Given the description of an element on the screen output the (x, y) to click on. 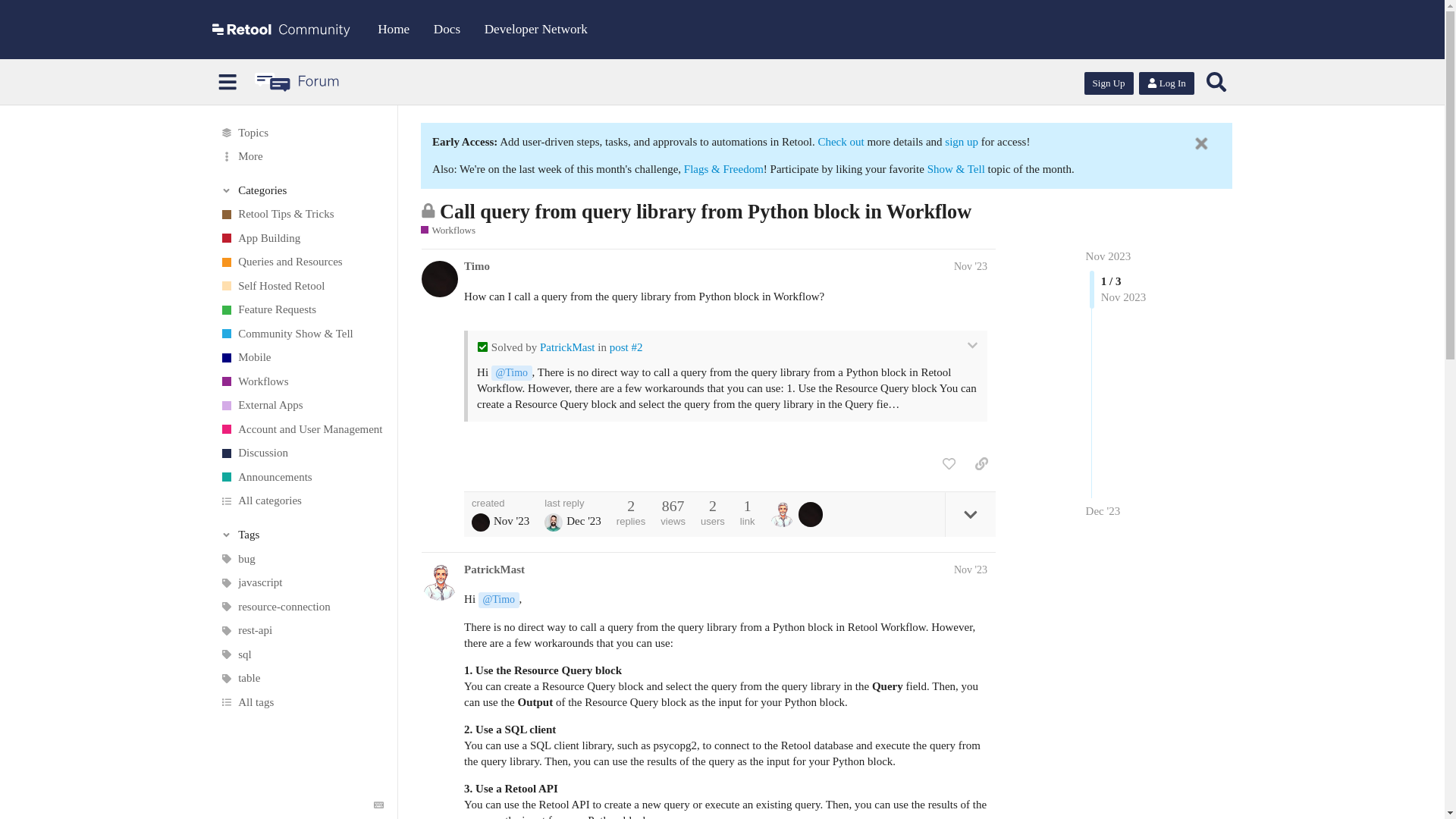
Toggle section (301, 190)
External Apps (301, 405)
javascript (301, 582)
Retool (281, 29)
All topics (301, 132)
Workflows (301, 381)
Docs (446, 29)
Sidebar (227, 81)
Search (1215, 82)
App Building (301, 238)
Check out (841, 141)
rest-api (301, 630)
Topics (301, 132)
